Given the description of an element on the screen output the (x, y) to click on. 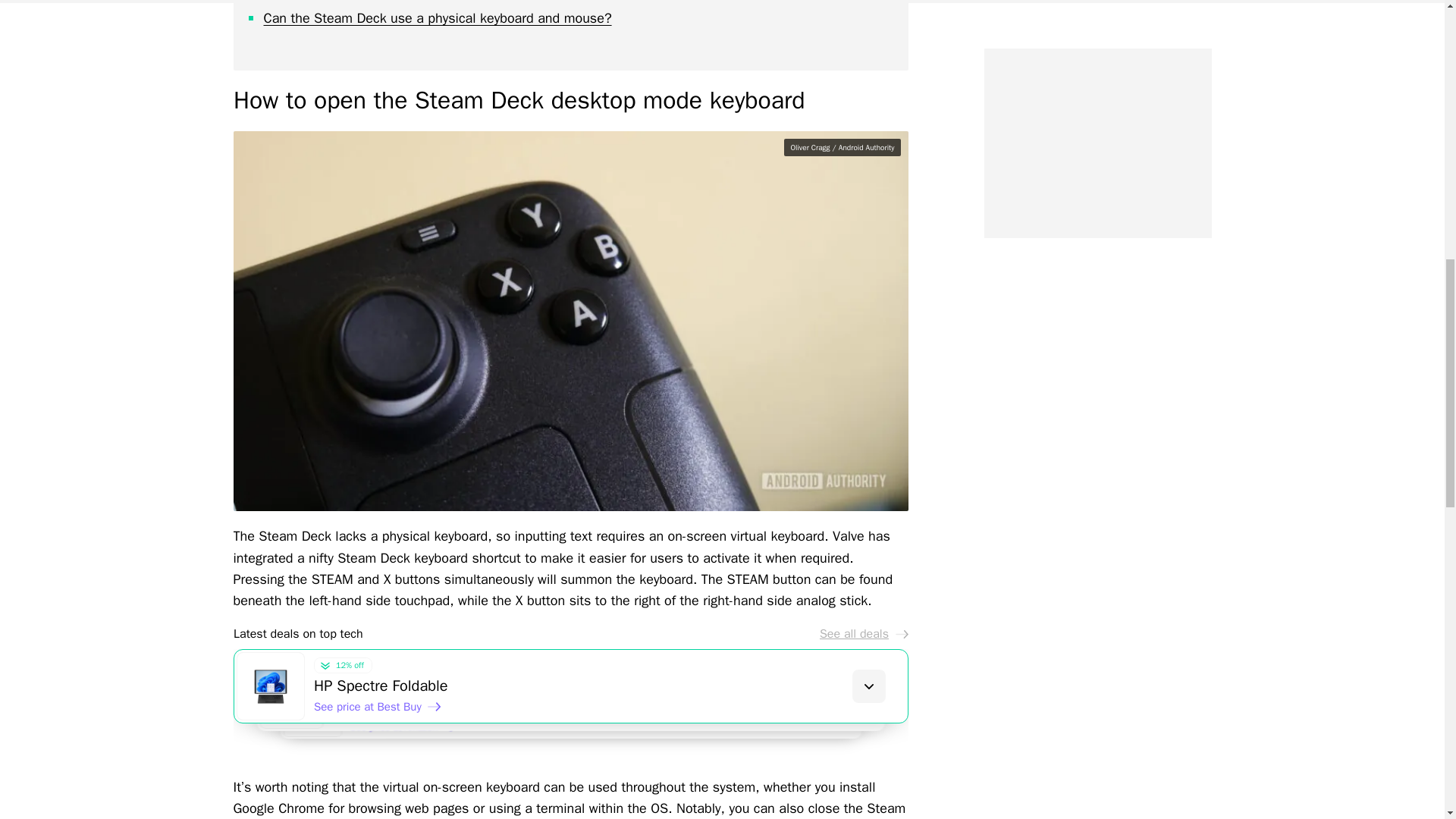
HP Spectre Foldable (609, 685)
See all deals (862, 633)
See price at Best Buy (377, 706)
See price at Amazon (409, 731)
See price at Amazon (391, 719)
Can the Steam Deck use a physical keyboard and mouse? (437, 17)
